Given the description of an element on the screen output the (x, y) to click on. 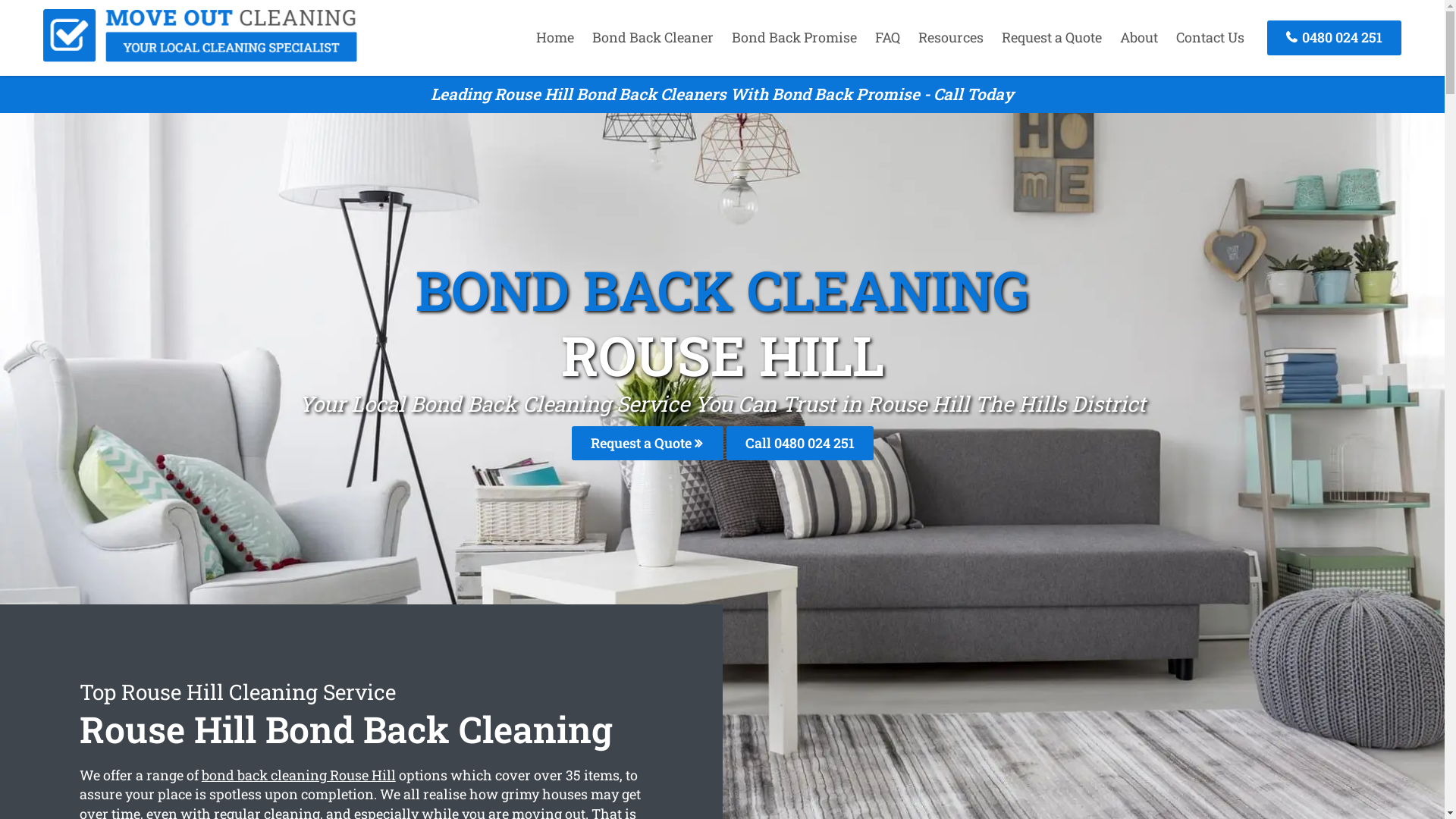
Request a Quote Element type: text (647, 443)
Call 0480 024 251 Element type: text (799, 443)
Resources Element type: text (950, 37)
Bond Back Cleaner Element type: text (652, 37)
Bond Back Promise Element type: text (794, 37)
bond back cleaning Rouse Hill Element type: text (298, 774)
Request a Quote Element type: text (1051, 37)
0480 024 251 Element type: text (1334, 37)
Home Element type: text (554, 37)
Contact Us Element type: text (1210, 37)
FAQ Element type: text (887, 37)
End of Lease Cleaning Element type: hover (200, 56)
About Element type: text (1138, 37)
